Given the description of an element on the screen output the (x, y) to click on. 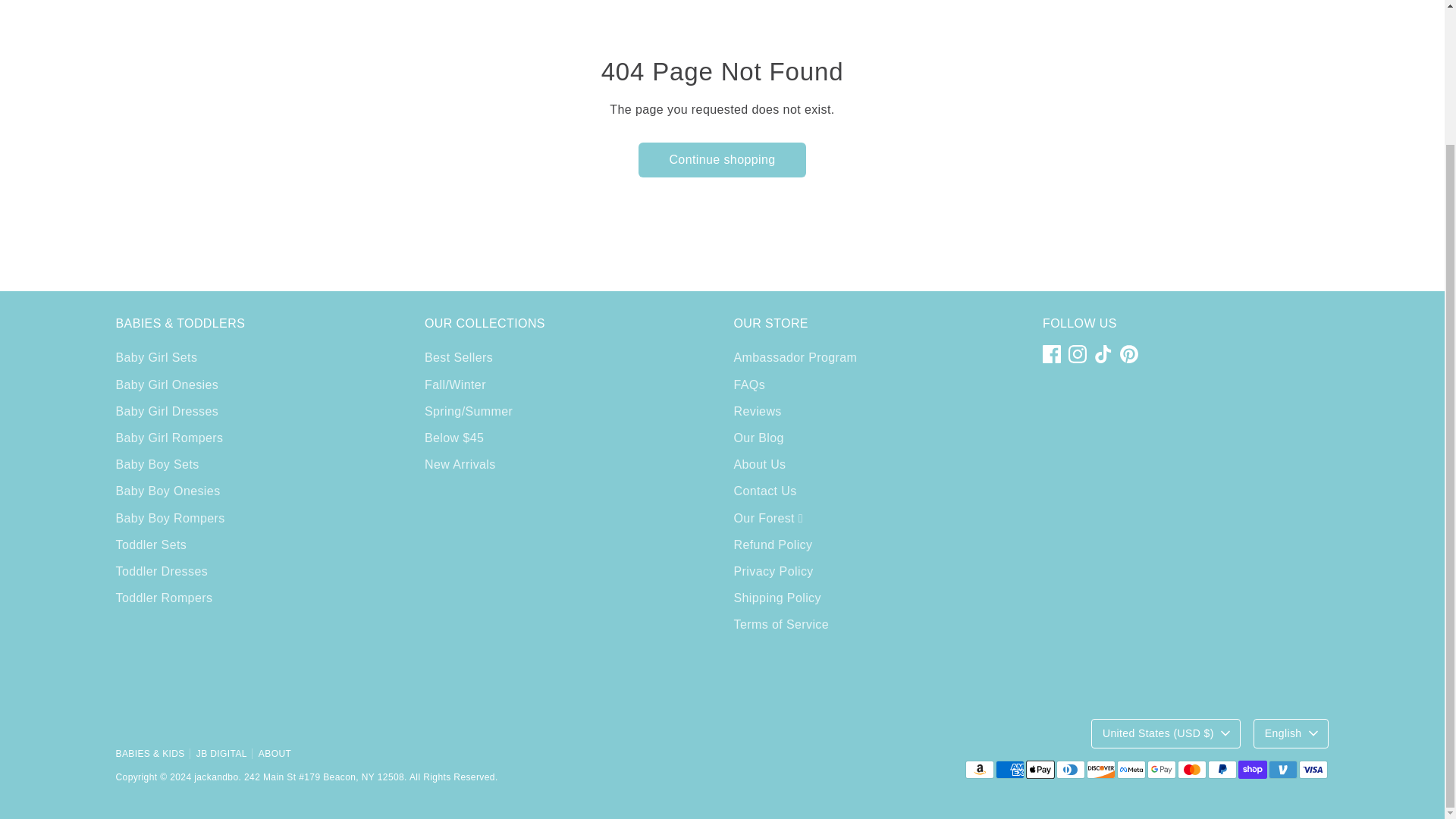
Amazon (977, 769)
Apple Pay (1039, 769)
Google Pay (1160, 769)
Meta Pay (1130, 769)
Diners Club (1069, 769)
American Express (1008, 769)
Discover (1100, 769)
